Given the description of an element on the screen output the (x, y) to click on. 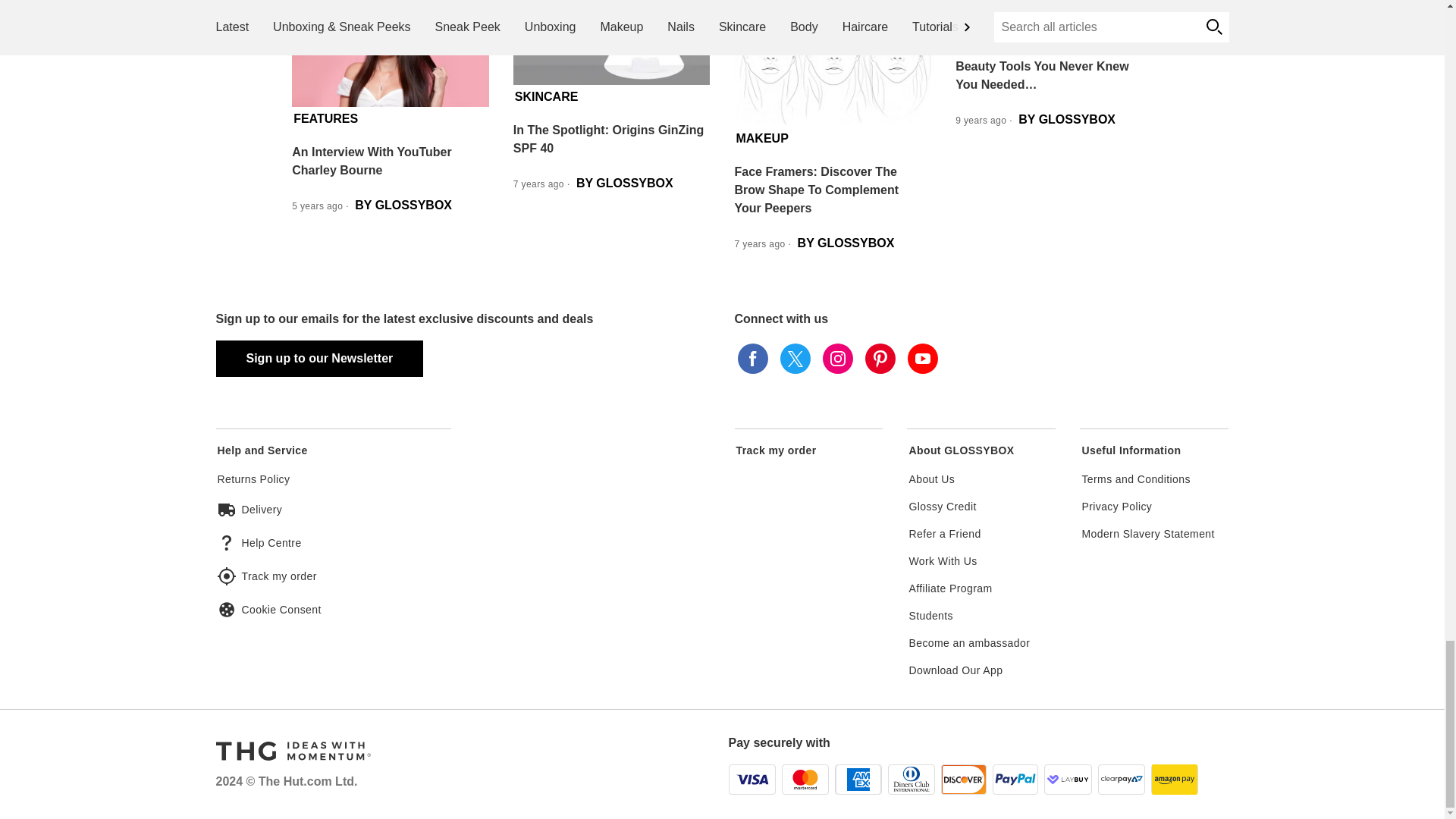
twitter (794, 358)
facebook (751, 358)
instagram (837, 358)
pinterest (879, 358)
